Given the description of an element on the screen output the (x, y) to click on. 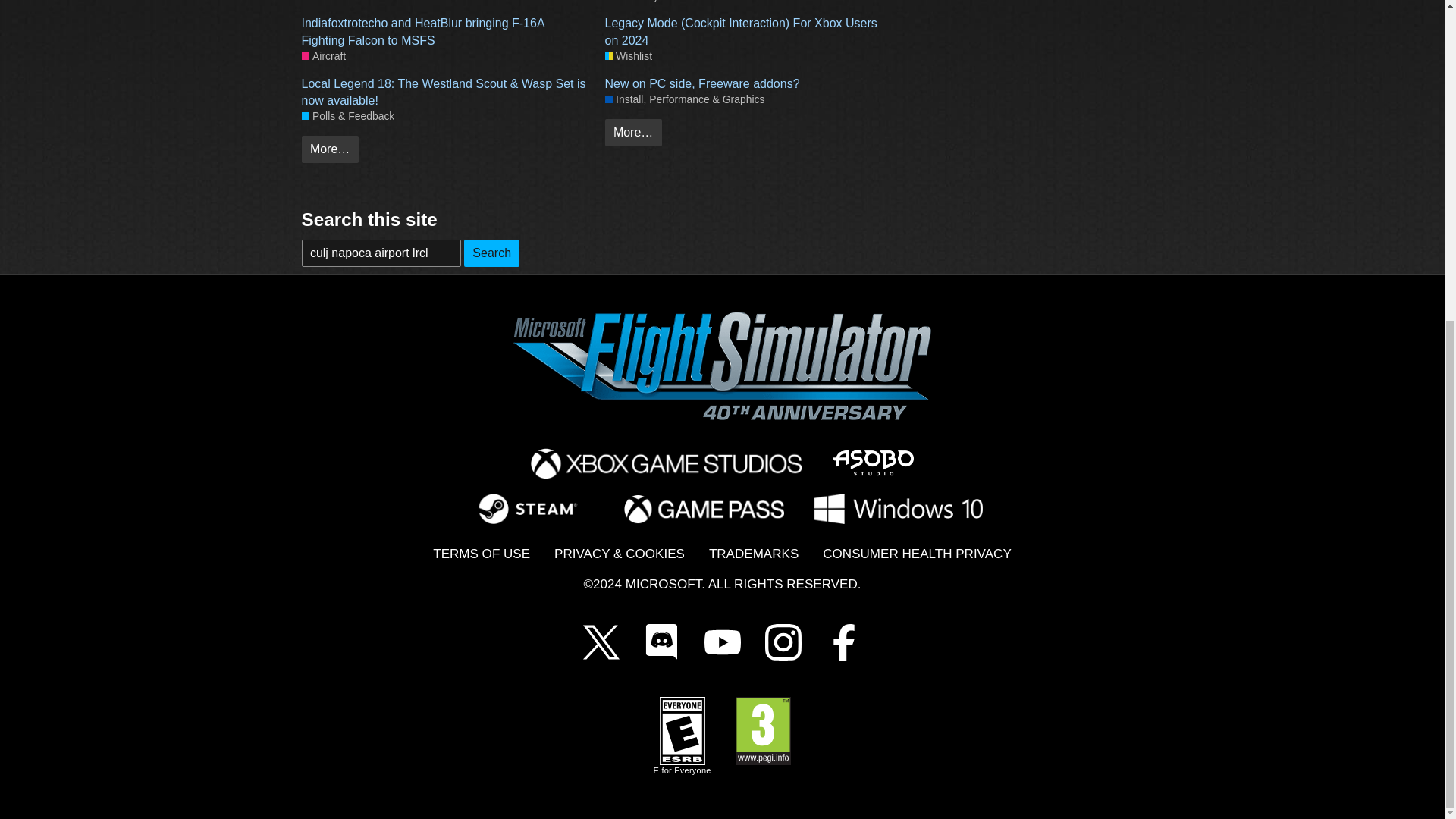
Aircraft (323, 2)
Aircraft (323, 56)
culj napoca airport lrcl (381, 252)
